Given the description of an element on the screen output the (x, y) to click on. 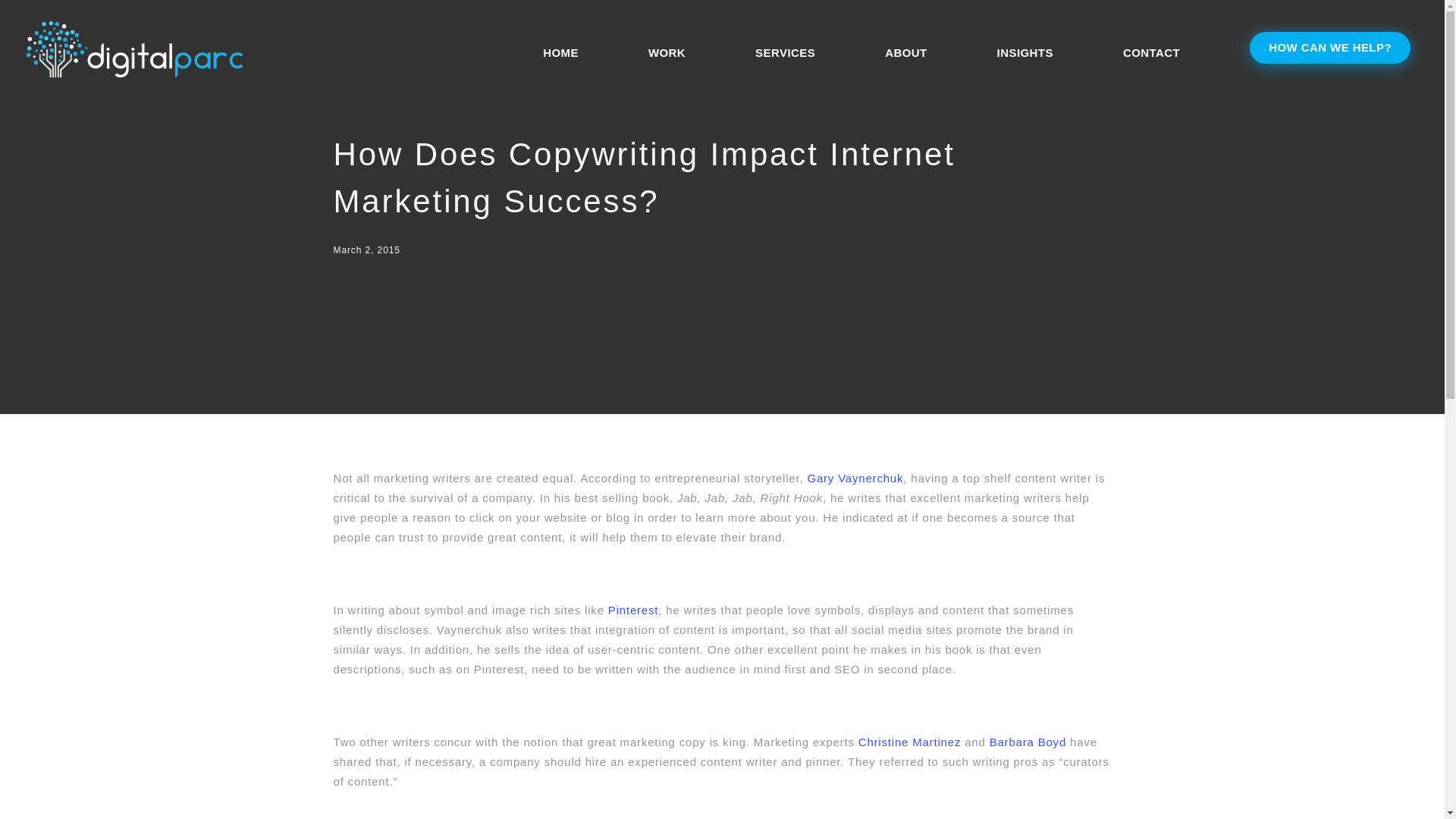
STRATEGY (500, 452)
PRIVACY POLICY (1041, 452)
WORK (666, 52)
Christine Martinez (909, 741)
SERVICES (785, 52)
HOW CAN WE HELP? (1329, 47)
Pinterest (633, 609)
MARKETING (738, 452)
ABOUT (833, 452)
CONTACT (921, 452)
WEB DESIGN (390, 452)
INSIGHTS (1024, 52)
612.845-5590 (660, 780)
Barbara Boyd (1027, 741)
CONTACT (1150, 52)
